Given the description of an element on the screen output the (x, y) to click on. 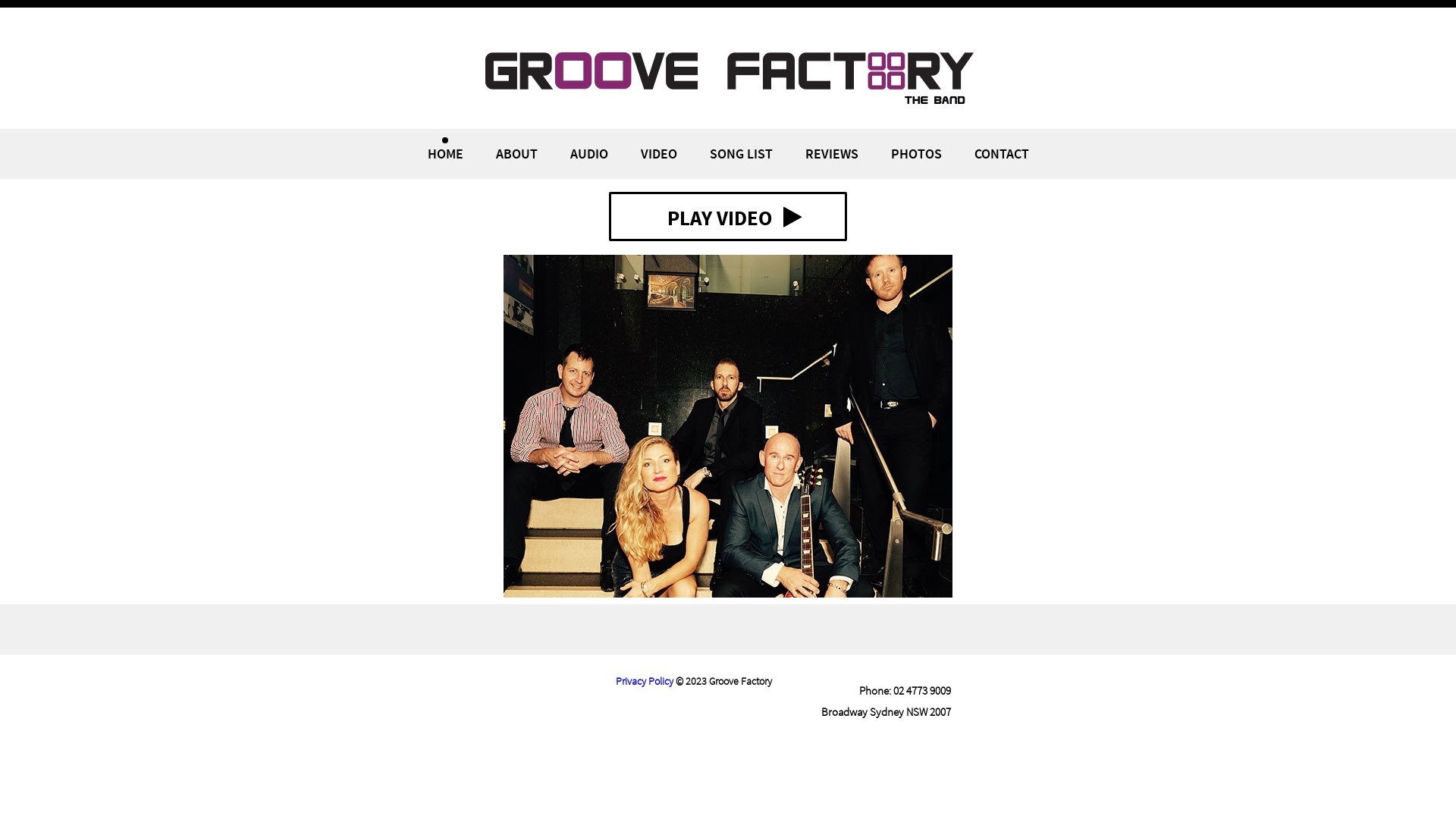
SONG LIST Element type: text (740, 153)
ABOUT Element type: text (516, 153)
CONTACT Element type: text (1000, 153)
PLAY VIDEO Element type: text (727, 216)
REVIEWS Element type: text (831, 153)
PHOTOS Element type: text (915, 153)
HOME Element type: text (445, 153)
AUDIO Element type: text (589, 153)
VIDEO Element type: text (658, 153)
Privacy Policy Element type: text (644, 680)
